Given the description of an element on the screen output the (x, y) to click on. 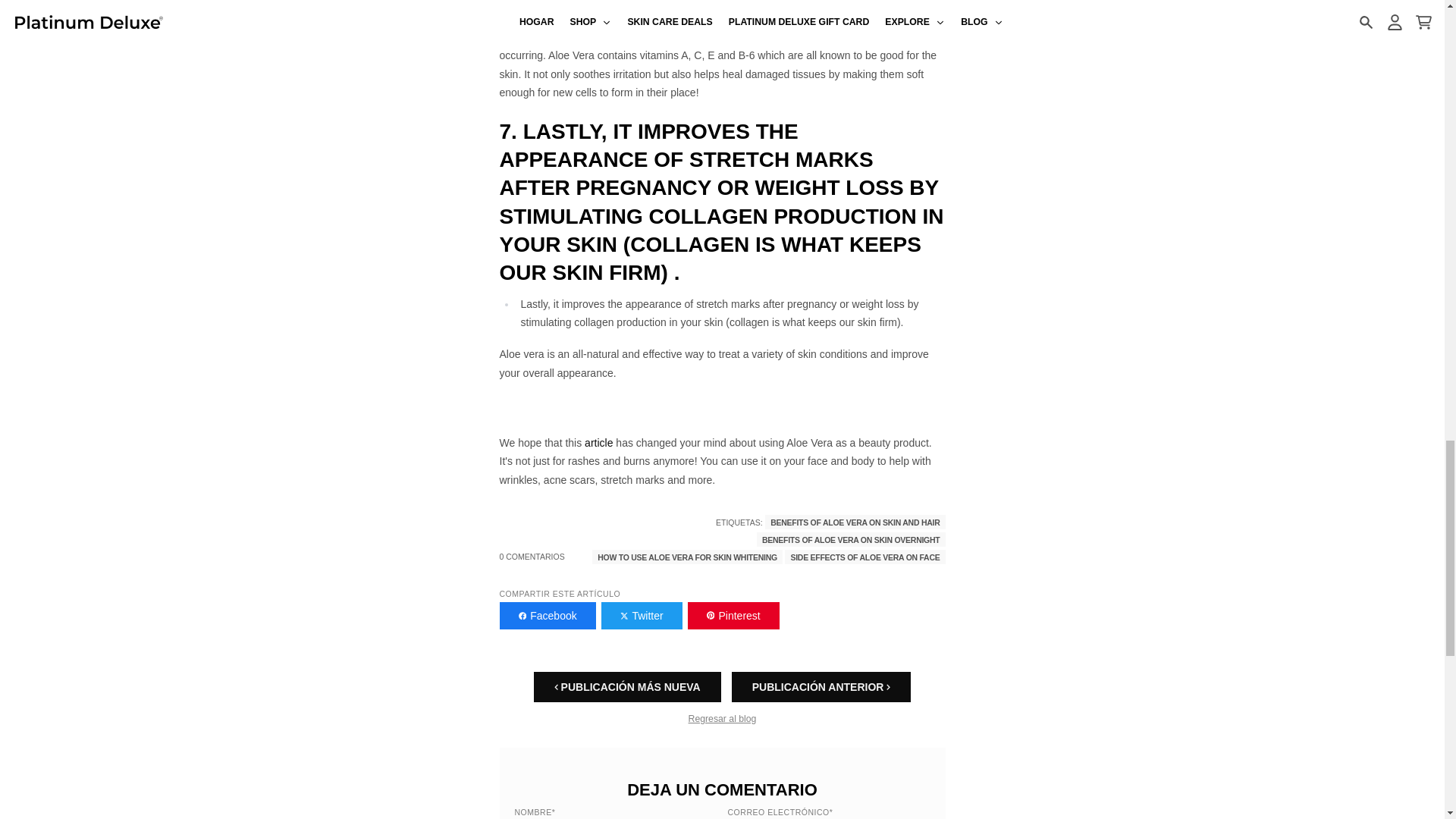
7 Benefits Of Aloe Vera On Skin (598, 442)
